Given the description of an element on the screen output the (x, y) to click on. 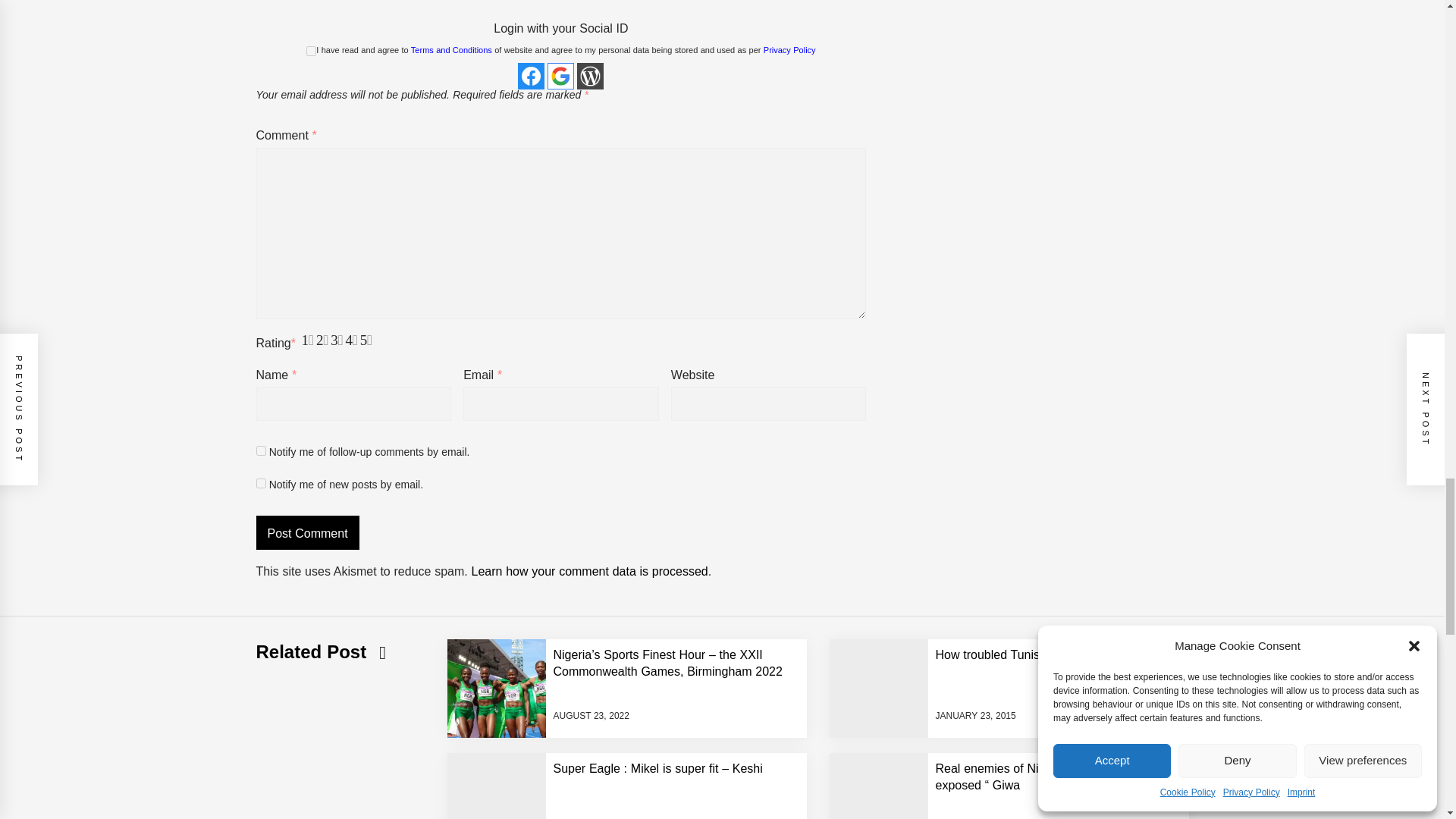
1 (310, 50)
subscribe (261, 483)
Post Comment (307, 532)
subscribe (261, 450)
